Given the description of an element on the screen output the (x, y) to click on. 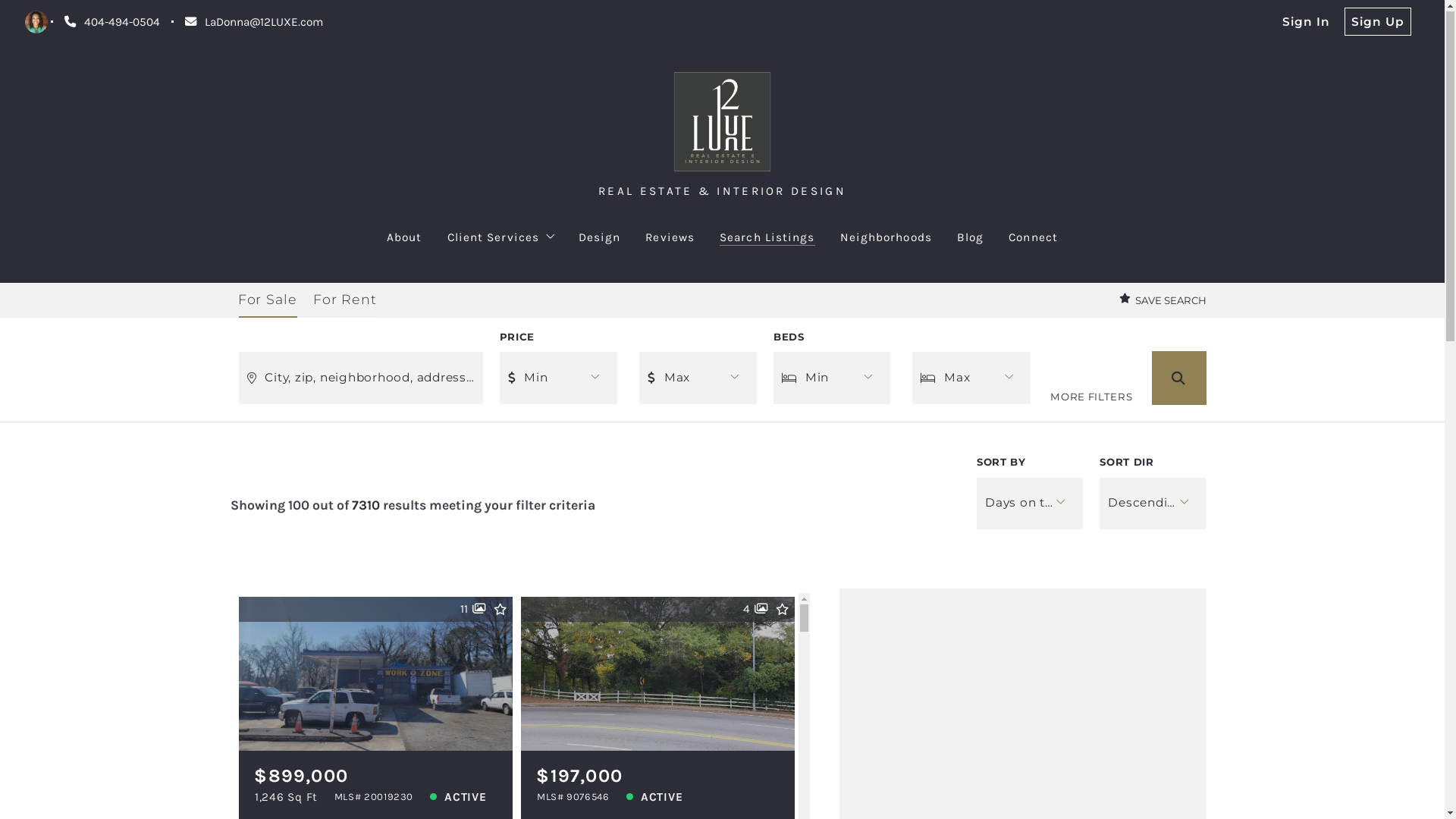
LaDonna@12LUXE.com Element type: text (254, 22)
About Element type: text (404, 237)
Blog Element type: text (970, 237)
Connect Element type: text (1032, 237)
Sign In Element type: text (1306, 22)
Neighborhoods Element type: text (885, 237)
Sign Up Element type: text (1377, 22)
MORE FILTERS Element type: text (1091, 397)
404-494-0504 Element type: text (112, 22)
Homepage Element type: hover (722, 122)
Search Listings Element type: text (767, 237)
Reviews Element type: text (669, 237)
Client Services Element type: text (500, 237)
Search Listings Element type: hover (36, 22)
Design Element type: text (599, 237)
